Given the description of an element on the screen output the (x, y) to click on. 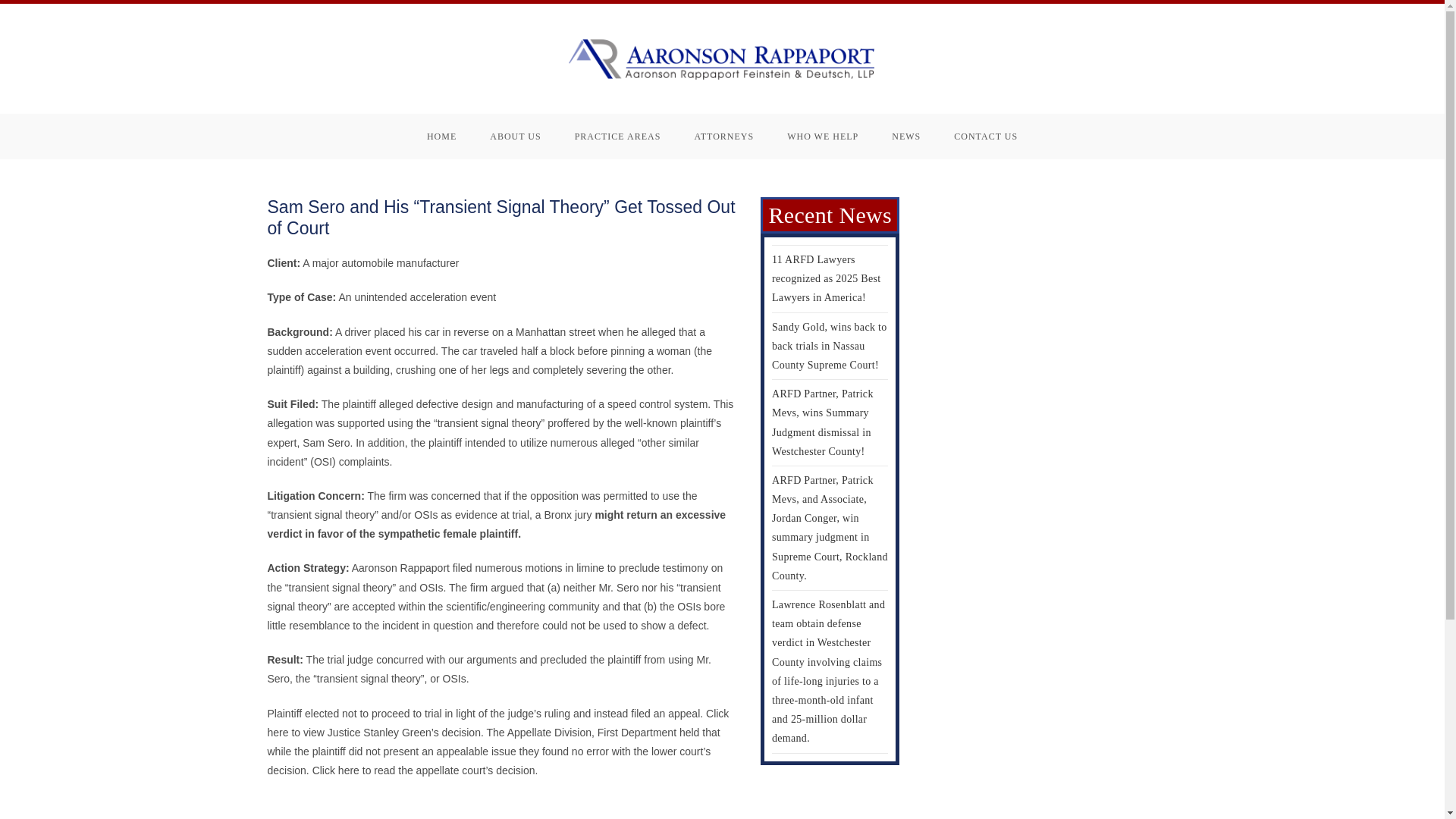
PRACTICE AREAS (617, 135)
HOME (441, 135)
CONTACT US (985, 135)
NEWS (906, 135)
WHO WE HELP (822, 135)
ATTORNEYS (723, 135)
ABOUT US (515, 135)
11 ARFD Lawyers recognized as 2025 Best Lawyers in America! (825, 278)
